Given the description of an element on the screen output the (x, y) to click on. 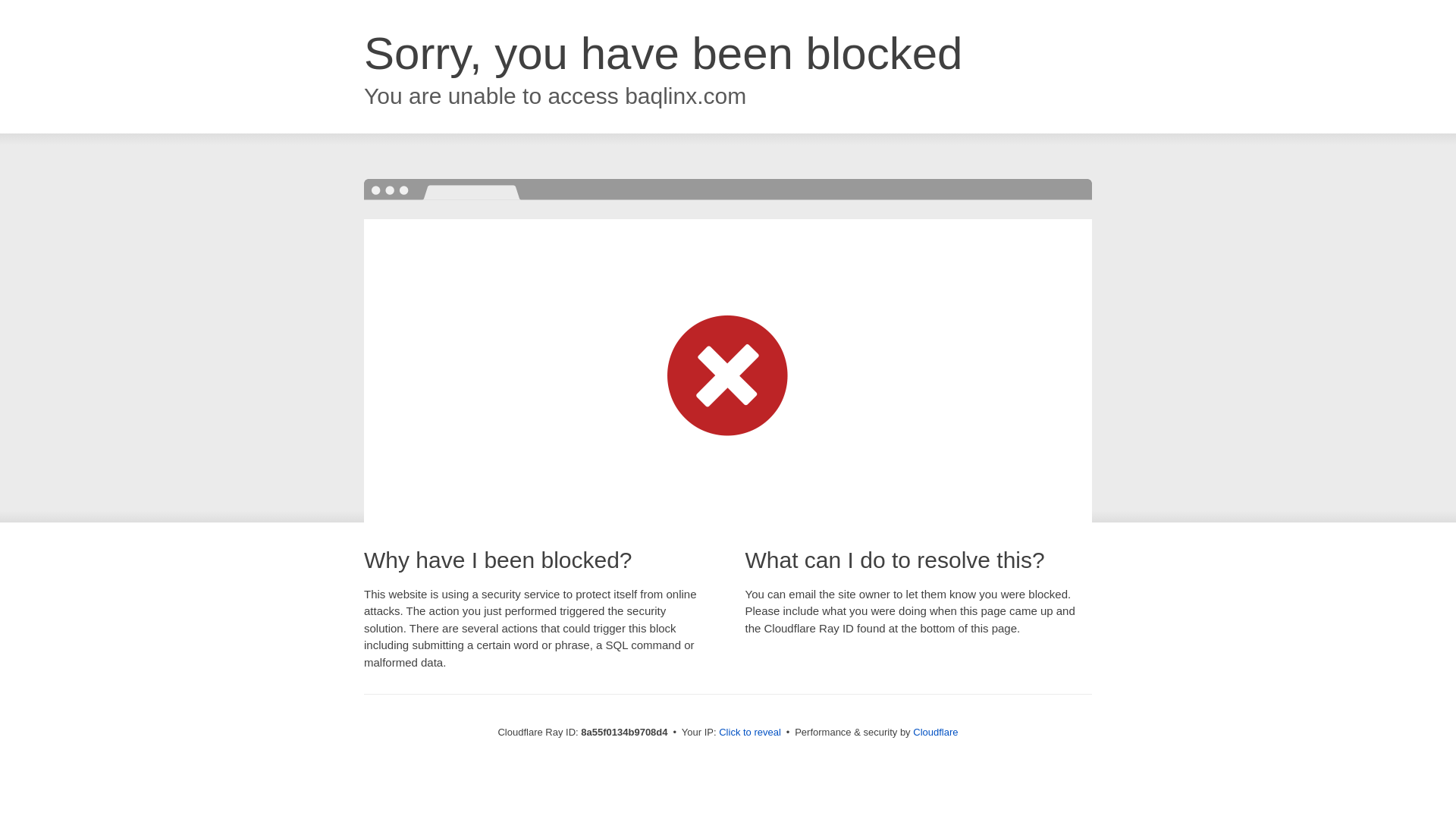
Cloudflare (935, 731)
Click to reveal (749, 732)
